Given the description of an element on the screen output the (x, y) to click on. 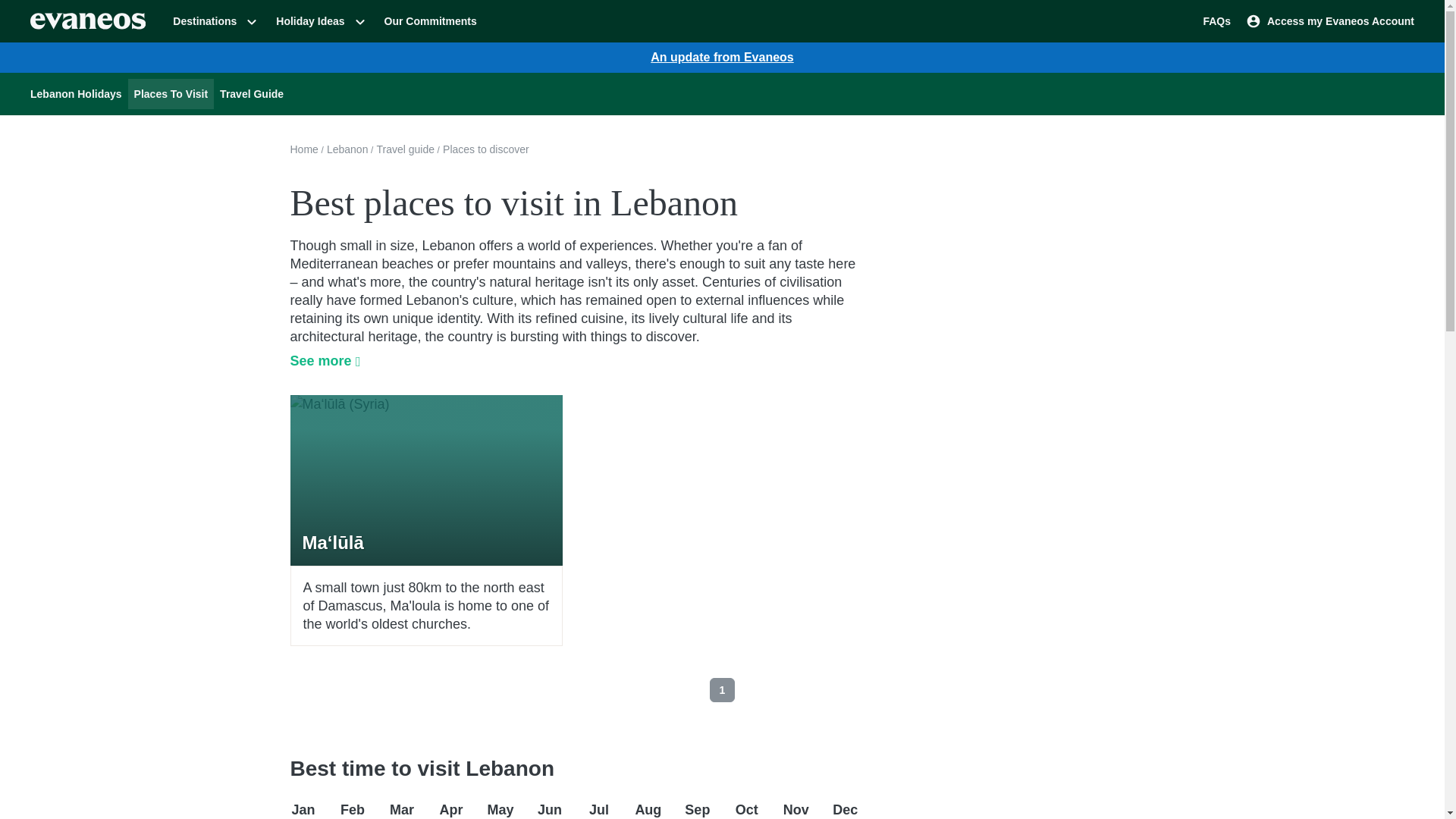
Holiday Ideas (320, 20)
FAQs (1214, 20)
Our Commitments (429, 20)
Best time to visit Lebanon (574, 768)
Destinations (214, 20)
